Given the description of an element on the screen output the (x, y) to click on. 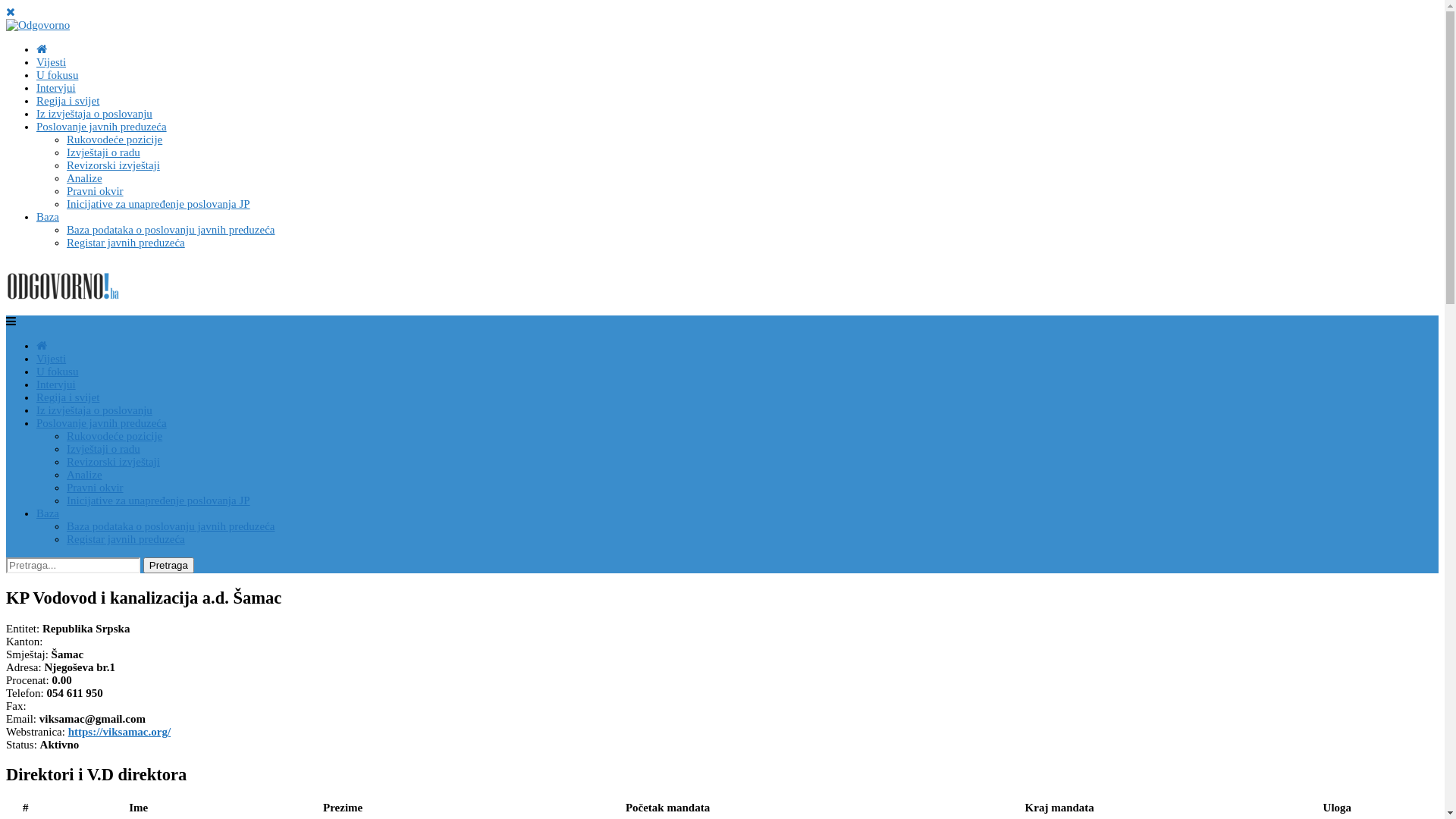
Analize Element type: text (84, 474)
Vijesti Element type: text (50, 358)
Intervjui Element type: text (55, 384)
Baza Element type: text (47, 216)
Pravni okvir Element type: text (94, 191)
Vijesti Element type: text (50, 62)
Regija i svijet Element type: text (67, 100)
Pretraga Element type: text (168, 565)
U fokusu Element type: text (57, 371)
U fokusu Element type: text (57, 75)
Intervjui Element type: text (55, 87)
Regija i svijet Element type: text (67, 397)
Baza Element type: text (47, 513)
Pravni okvir Element type: text (94, 487)
Analize Element type: text (84, 178)
https://viksamac.org/ Element type: text (119, 731)
